Given the description of an element on the screen output the (x, y) to click on. 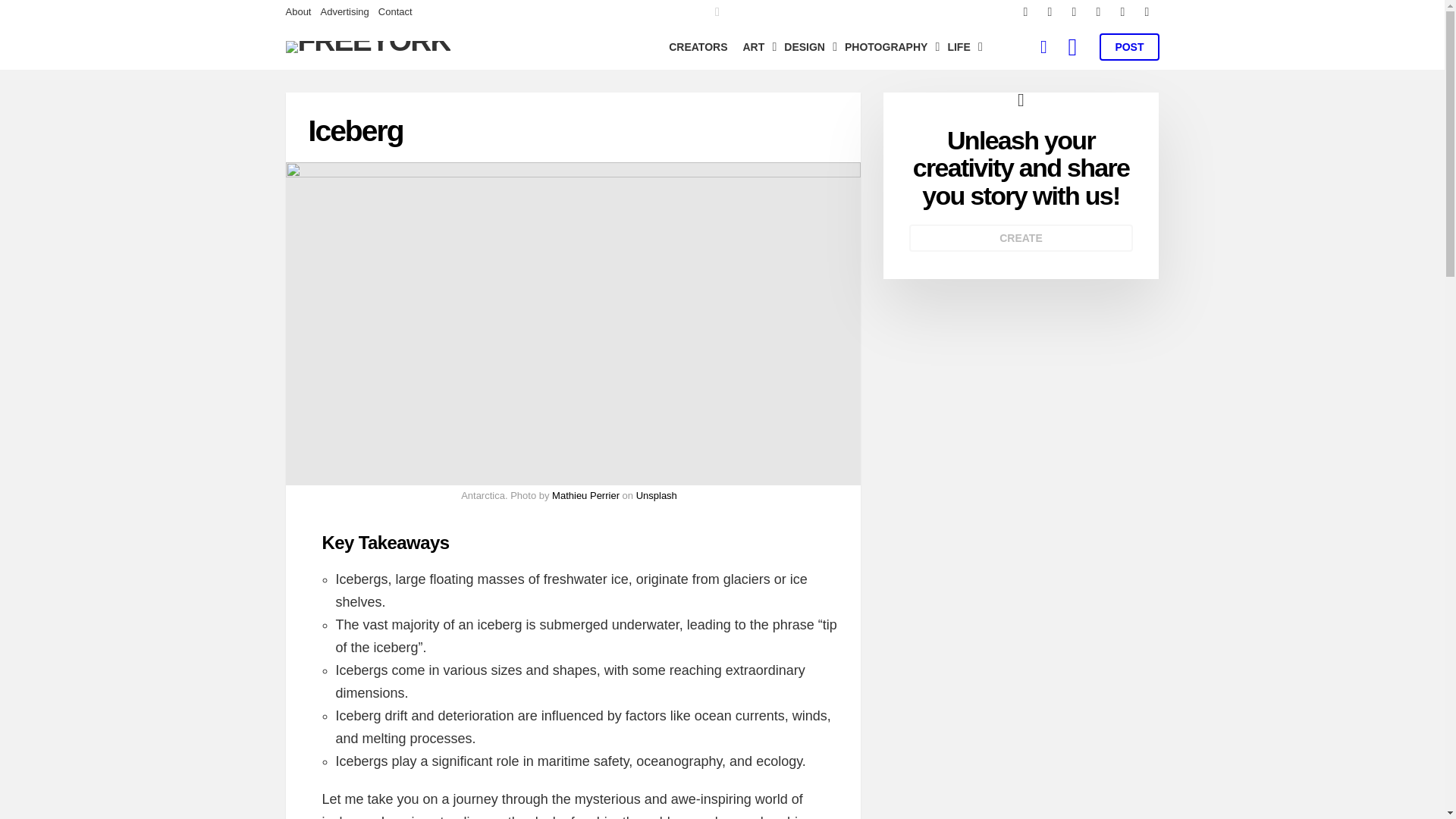
POST (1128, 46)
tiktok (1146, 11)
About (298, 12)
ART (756, 47)
LIFE (960, 47)
facebook (1024, 11)
Advertising (344, 12)
DESIGN (806, 47)
youtube (1121, 11)
